Given the description of an element on the screen output the (x, y) to click on. 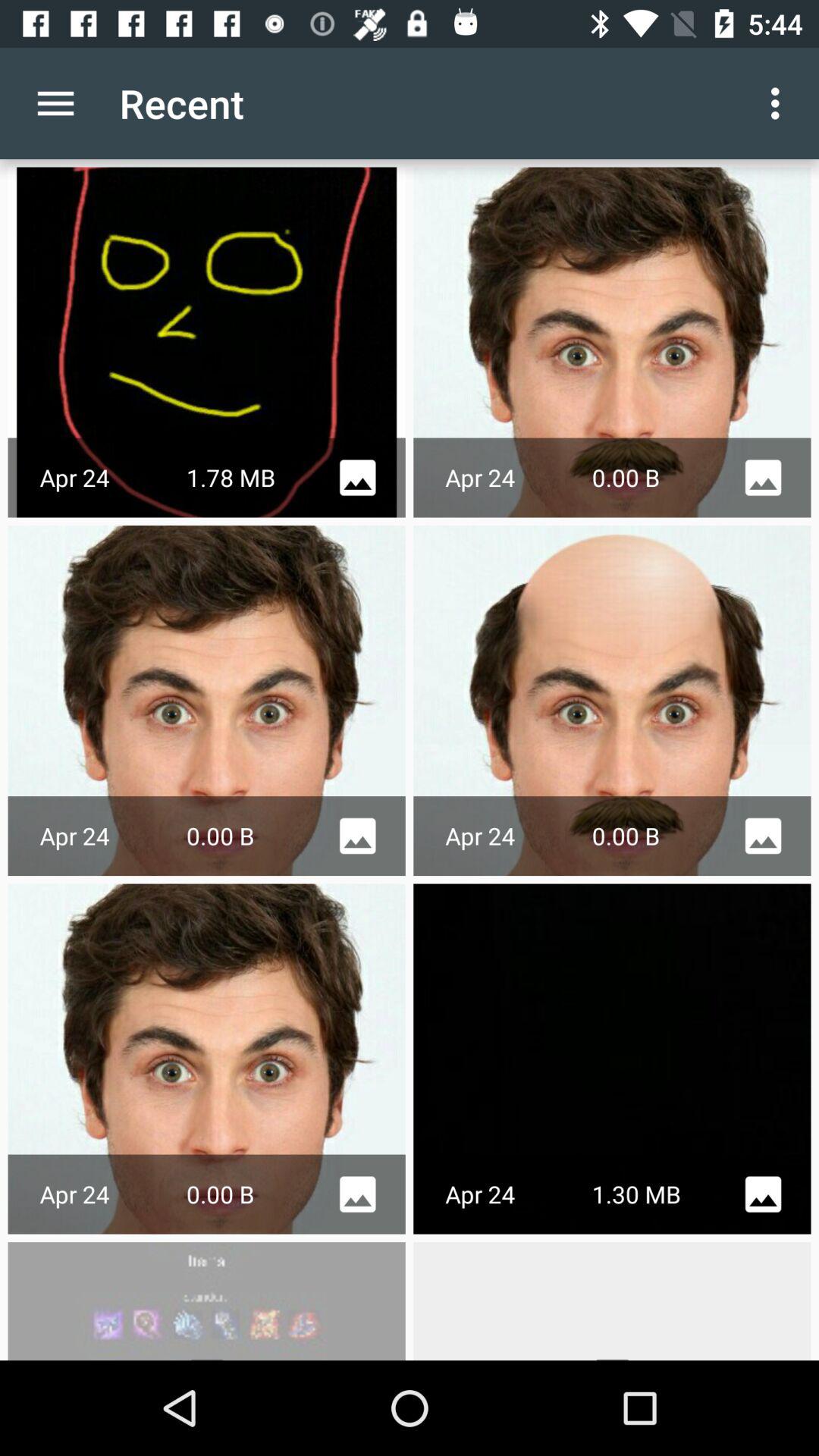
go to the icon on the second option second row (763, 836)
select the 2nd image in the 3rd row (612, 1058)
select the first image with the text apr 24 178 mb (206, 342)
select the image having text  apr 24   130 mb (612, 1058)
select image which is at first top right side of the page (612, 342)
click on the more option icon at the top right of the page (779, 103)
go to left bottom box (206, 1300)
